Given the description of an element on the screen output the (x, y) to click on. 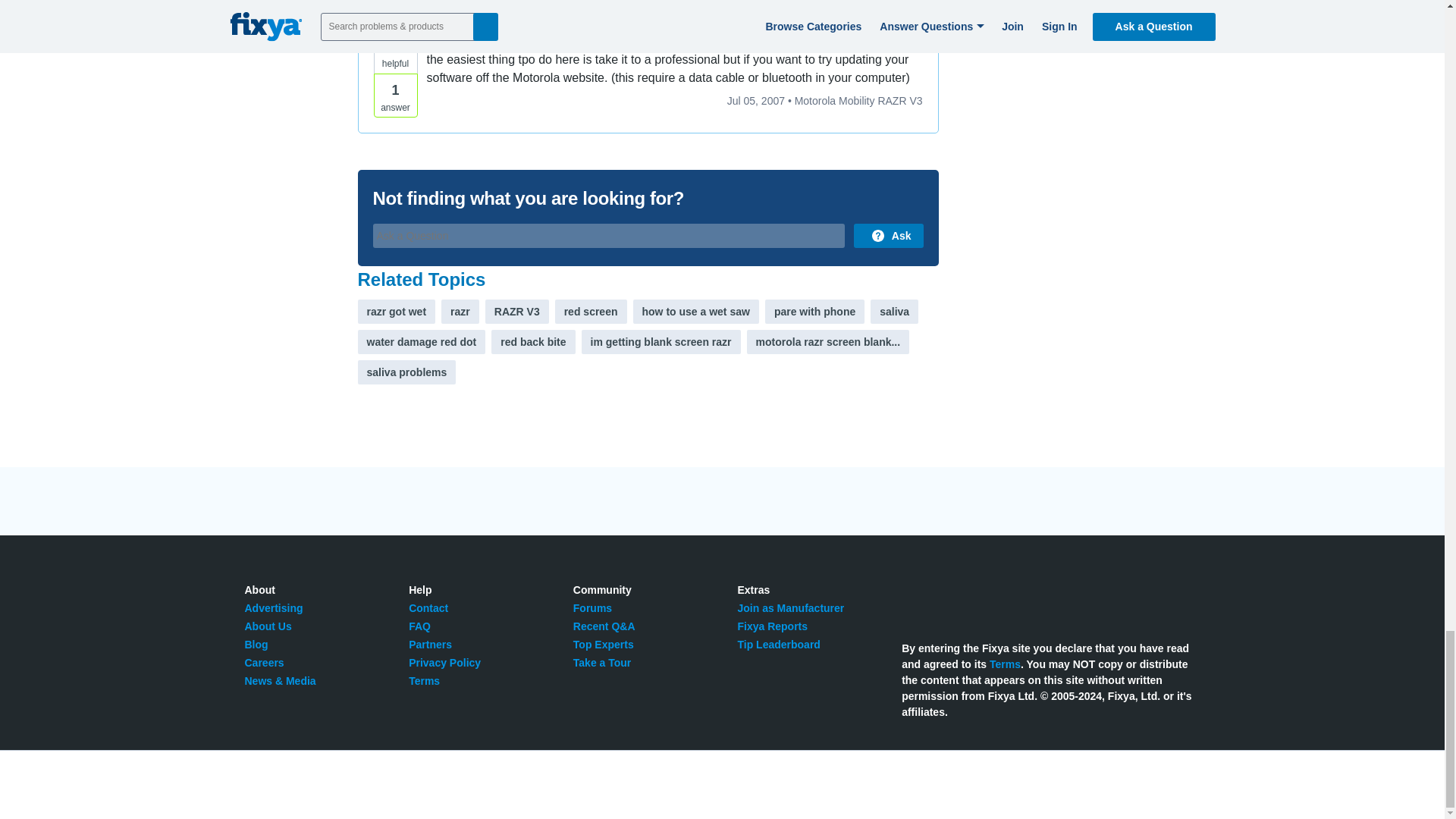
Ask (888, 235)
